Given the description of an element on the screen output the (x, y) to click on. 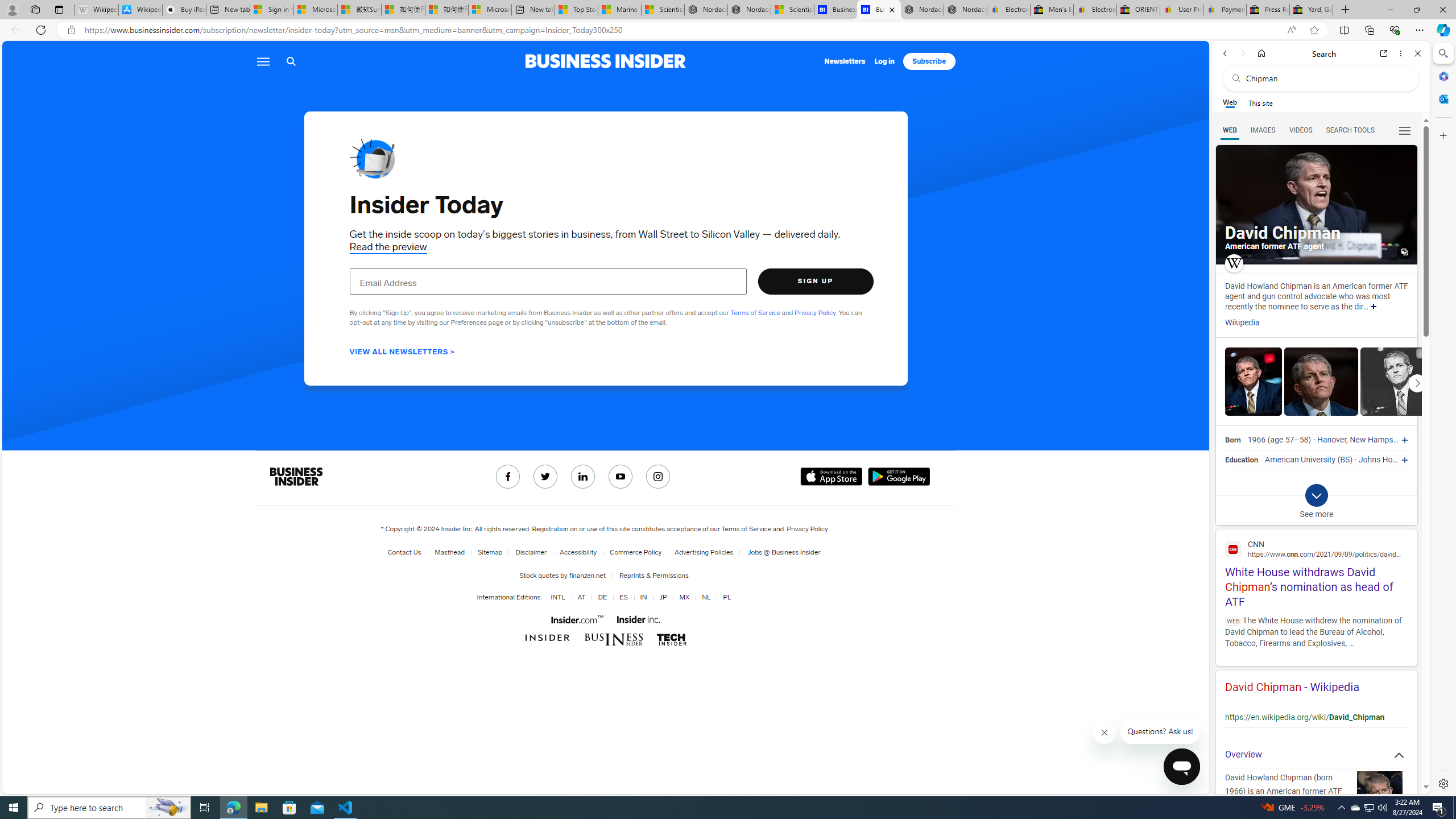
IN (641, 597)
Show more (1373, 307)
Contact Us (406, 552)
View details (1396, 381)
Disclaimer (531, 552)
Masthead (447, 552)
Insider-Inc Logo (638, 619)
AT (580, 597)
